Given the description of an element on the screen output the (x, y) to click on. 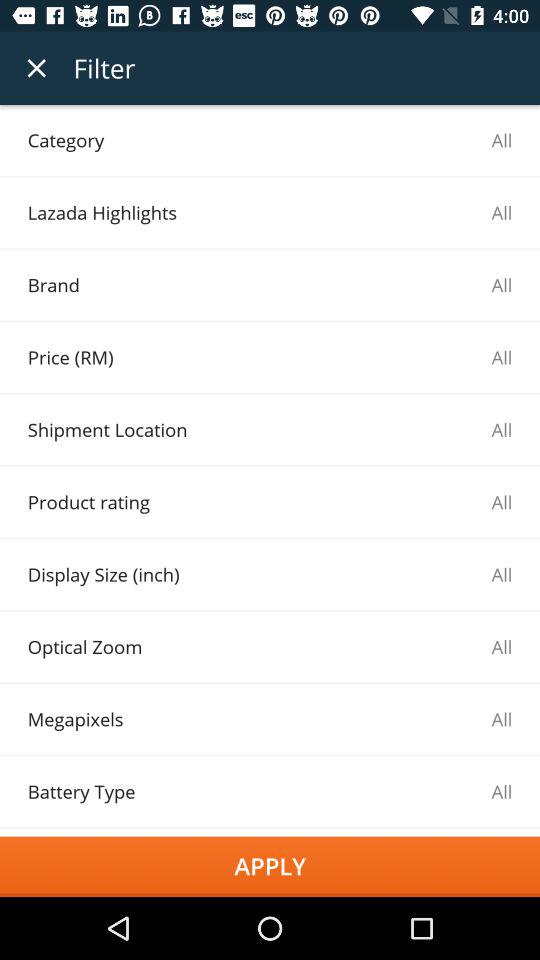
choose the icon to the left of the filter icon (36, 68)
